Given the description of an element on the screen output the (x, y) to click on. 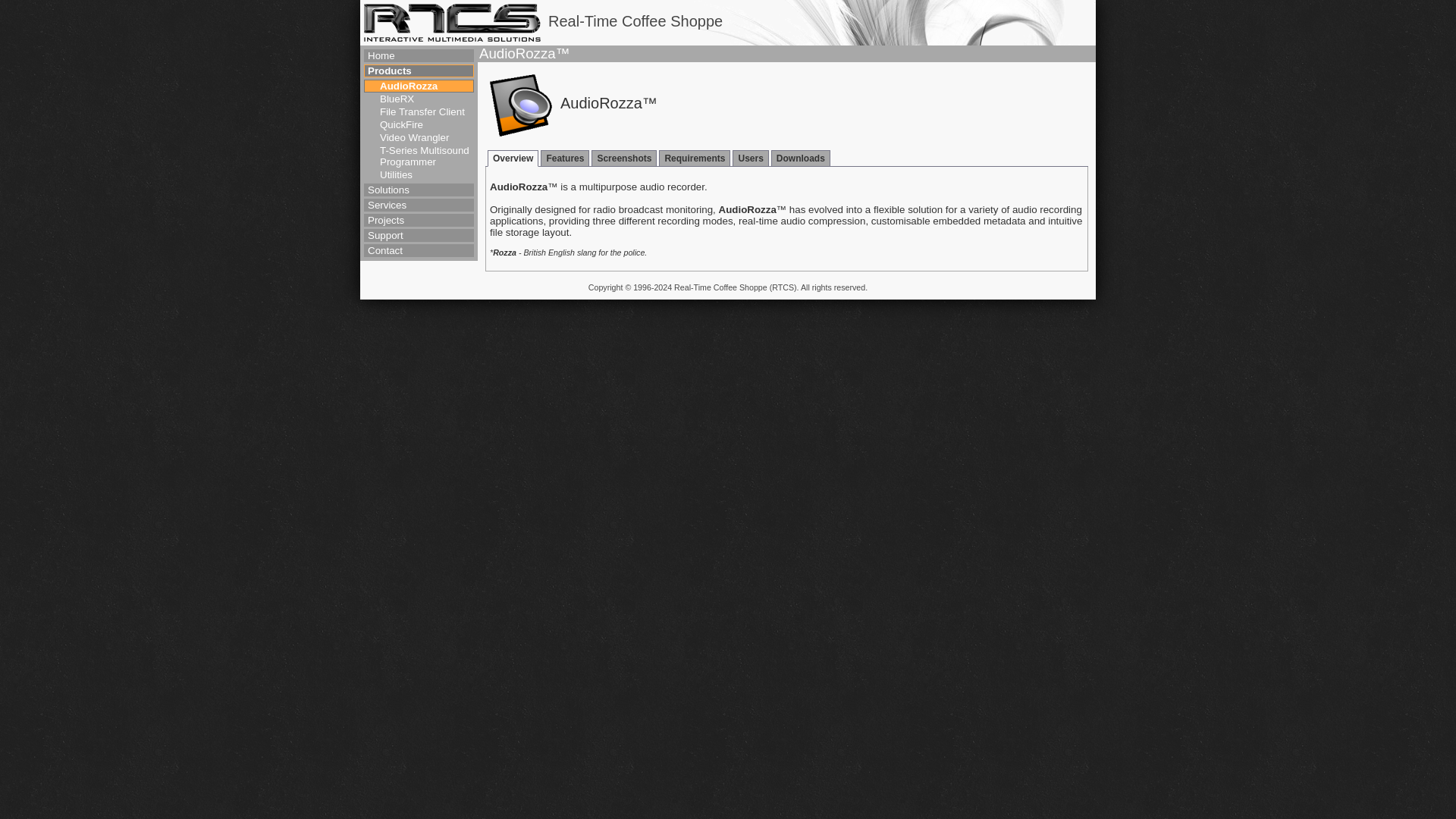
Support (419, 235)
Requirements (694, 157)
Features (564, 157)
Downloads (800, 157)
Contact (419, 250)
Overview (512, 158)
Solutions (419, 189)
Features (564, 157)
Products (419, 70)
Video Wrangler (426, 137)
